Given the description of an element on the screen output the (x, y) to click on. 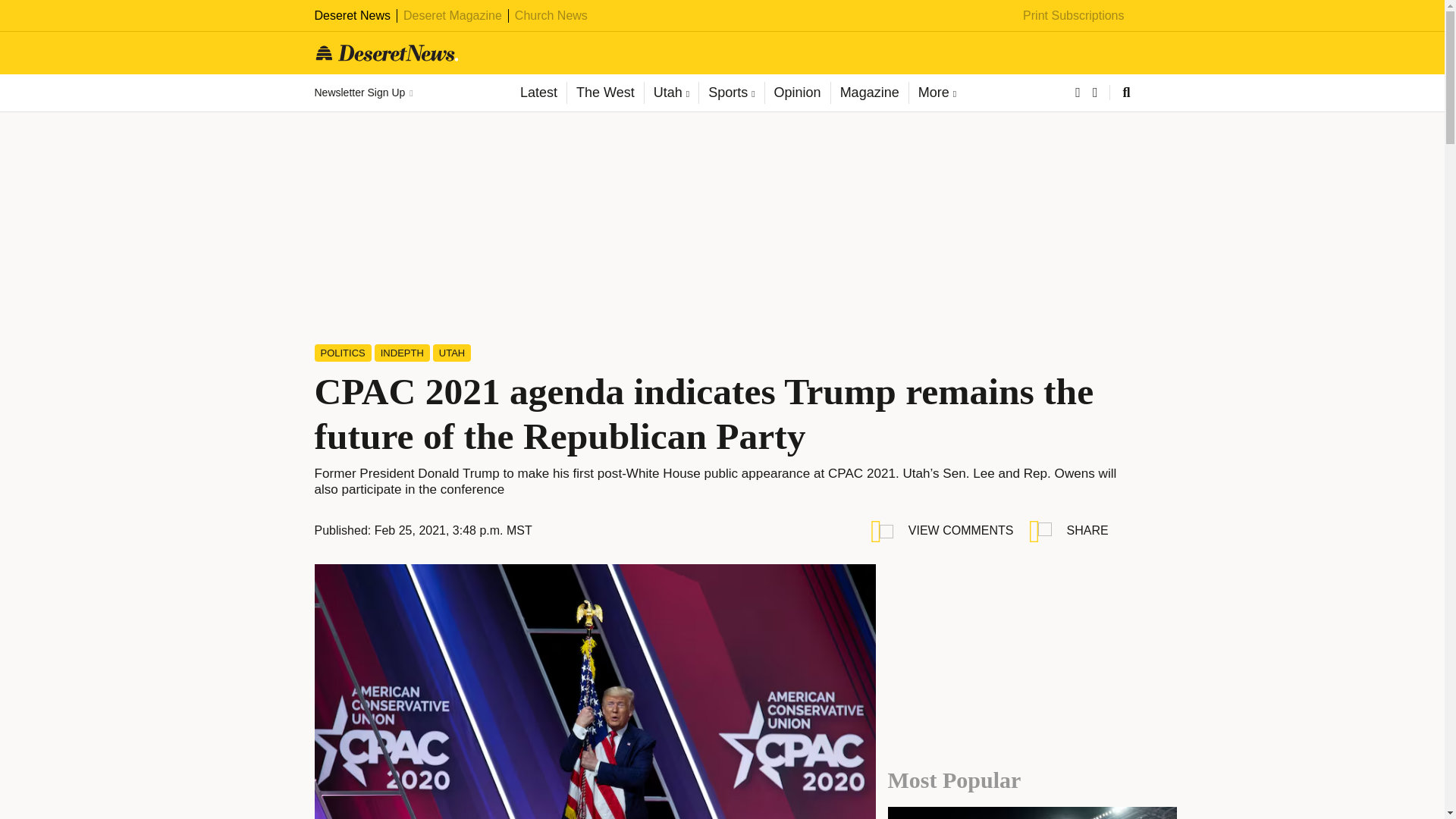
Utah (670, 92)
The West (604, 92)
Church News (551, 15)
Latest (538, 92)
INDEPTH (401, 352)
Print Subscriptions (1073, 15)
Opinion (796, 92)
Deseret Magazine (452, 15)
Newsletter Sign Up (363, 92)
UTAH (451, 352)
